Given the description of an element on the screen output the (x, y) to click on. 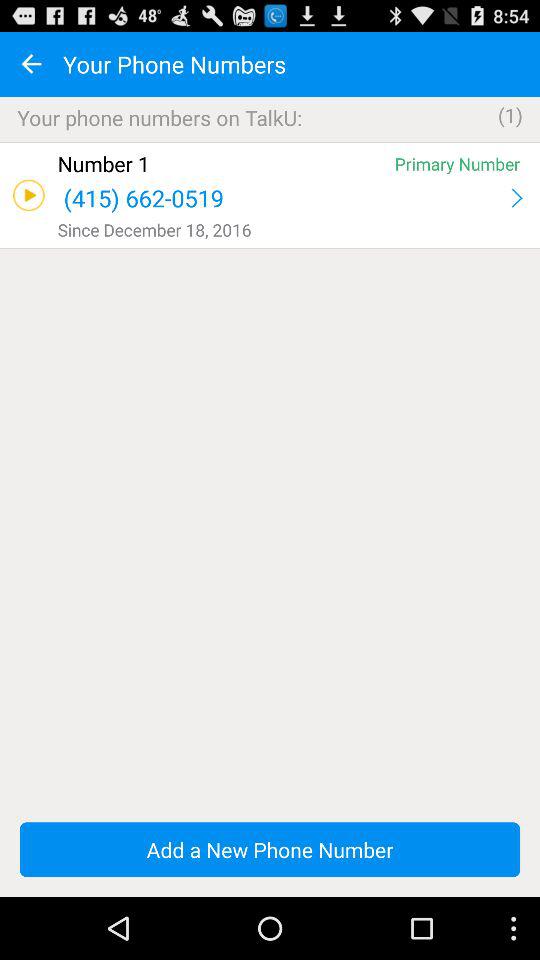
click the app below the since december 18 icon (270, 248)
